Given the description of an element on the screen output the (x, y) to click on. 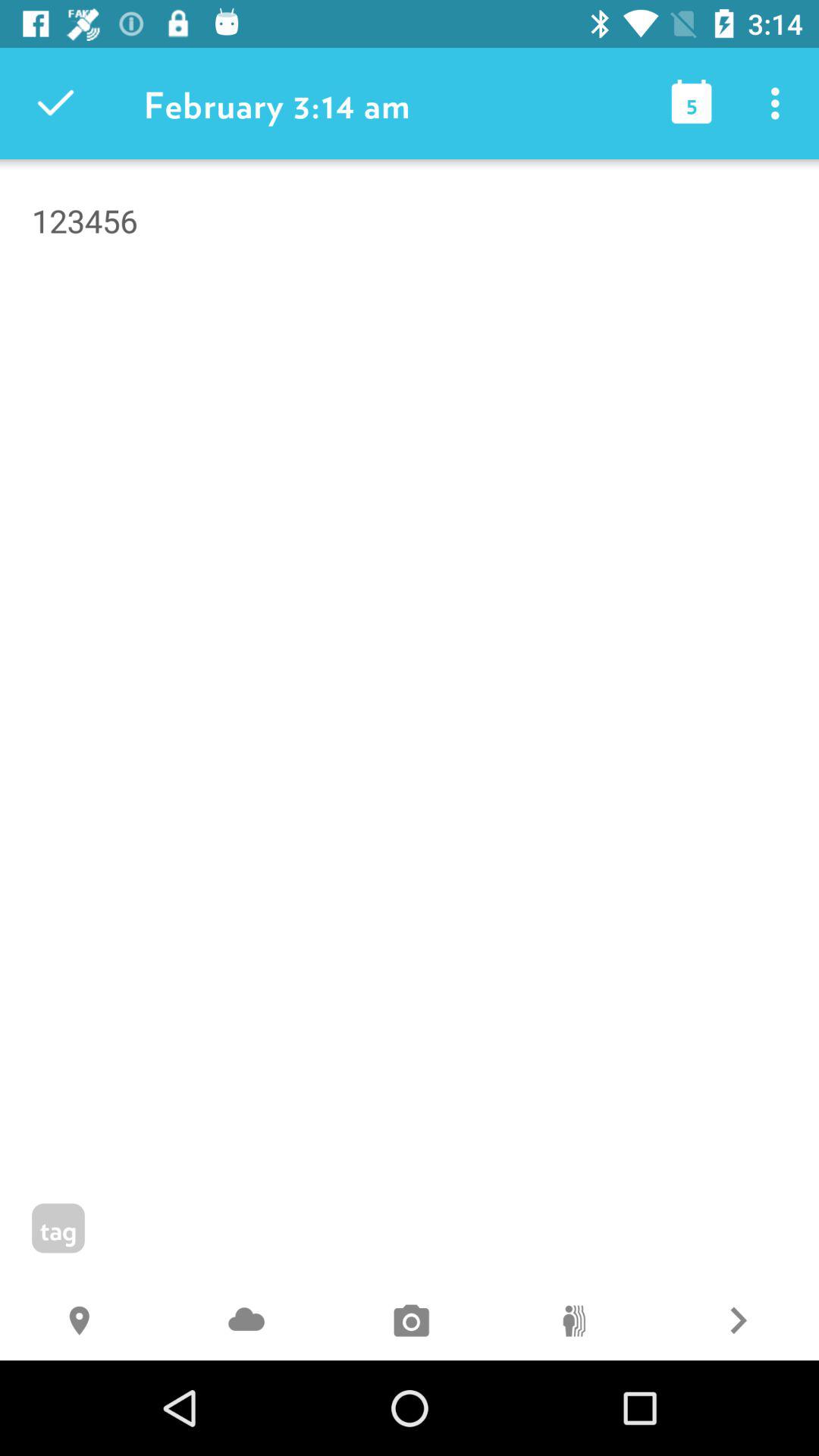
tap the item next to j item (81, 1322)
